Given the description of an element on the screen output the (x, y) to click on. 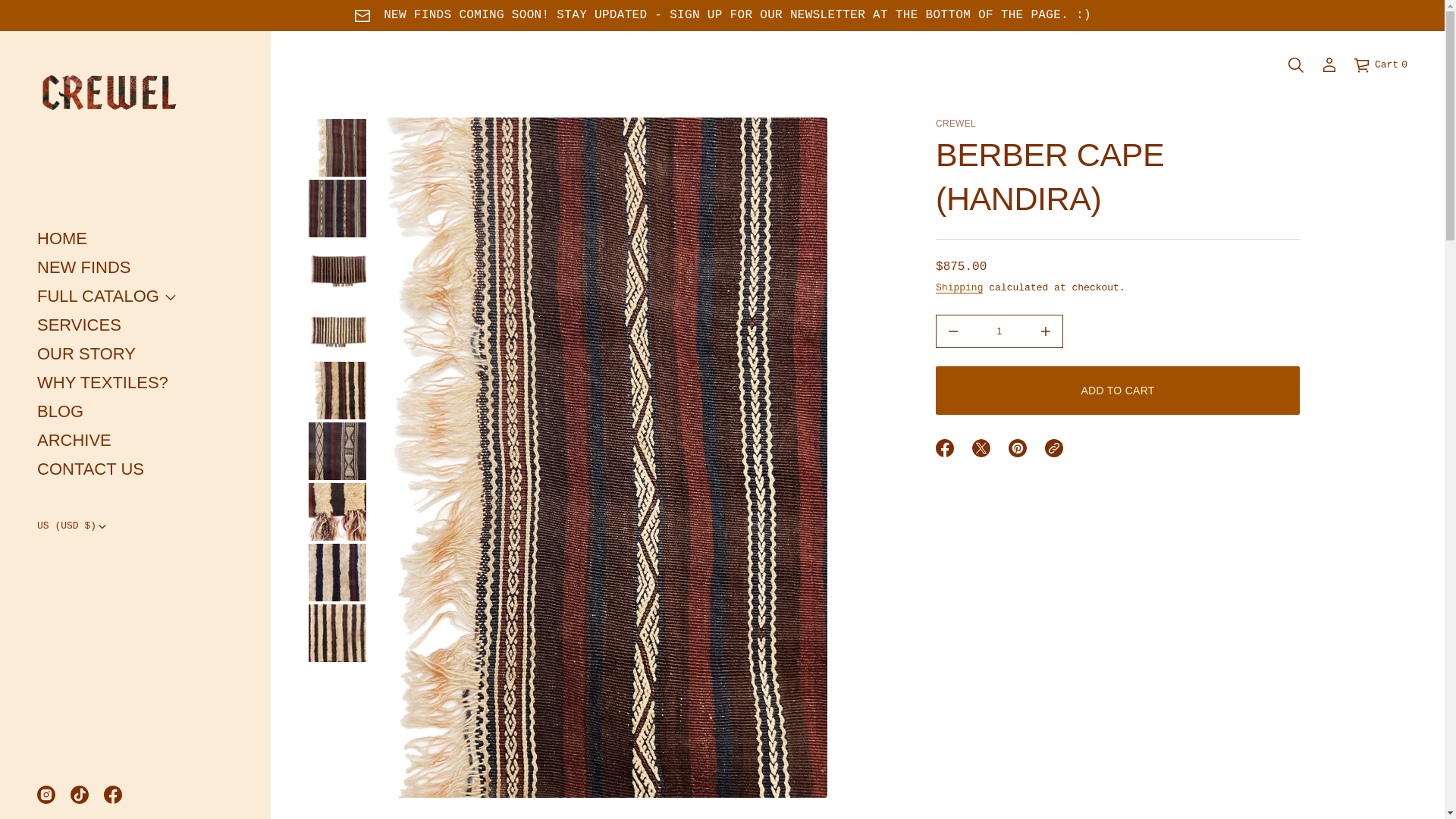
CONTACT US (90, 469)
ARCHIVE (74, 440)
FULL CATALOG (97, 296)
WHY TEXTILES? (102, 382)
HOME (62, 238)
Crewel (955, 122)
1 (999, 330)
OUR STORY (86, 354)
NEW FINDS (1380, 64)
SERVICES (84, 267)
BLOG (78, 324)
